Given the description of an element on the screen output the (x, y) to click on. 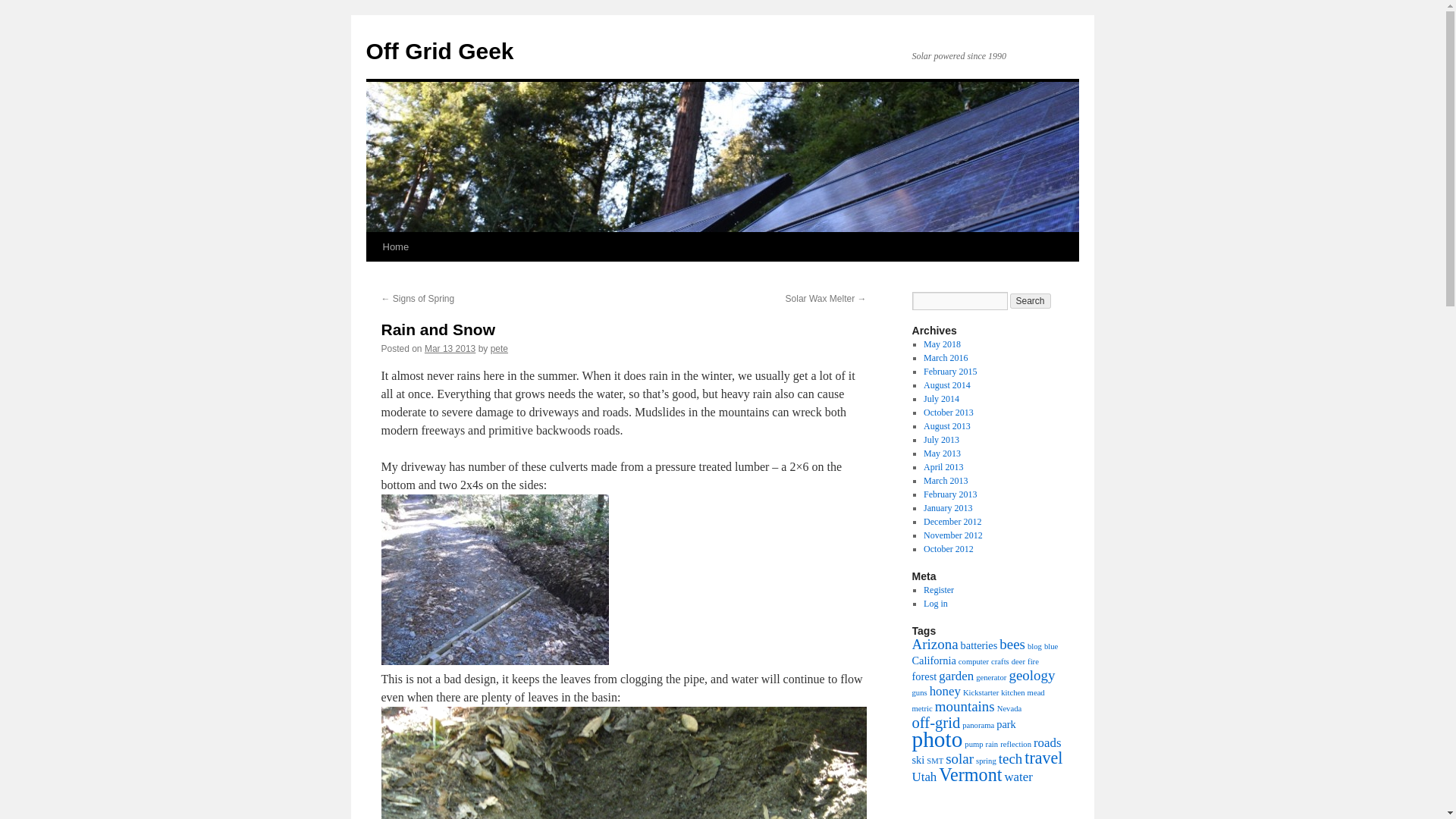
Search (1030, 300)
December 2012 (952, 521)
April 2013 (942, 466)
Register (938, 589)
October 2012 (948, 548)
Mar 13 2013 (450, 348)
February 2013 (949, 493)
May 2013 (941, 452)
pete (499, 348)
November 2012 (952, 534)
Search (1030, 300)
August 2013 (947, 425)
July 2013 (941, 439)
October 2013 (948, 412)
August 2014 (947, 385)
